Given the description of an element on the screen output the (x, y) to click on. 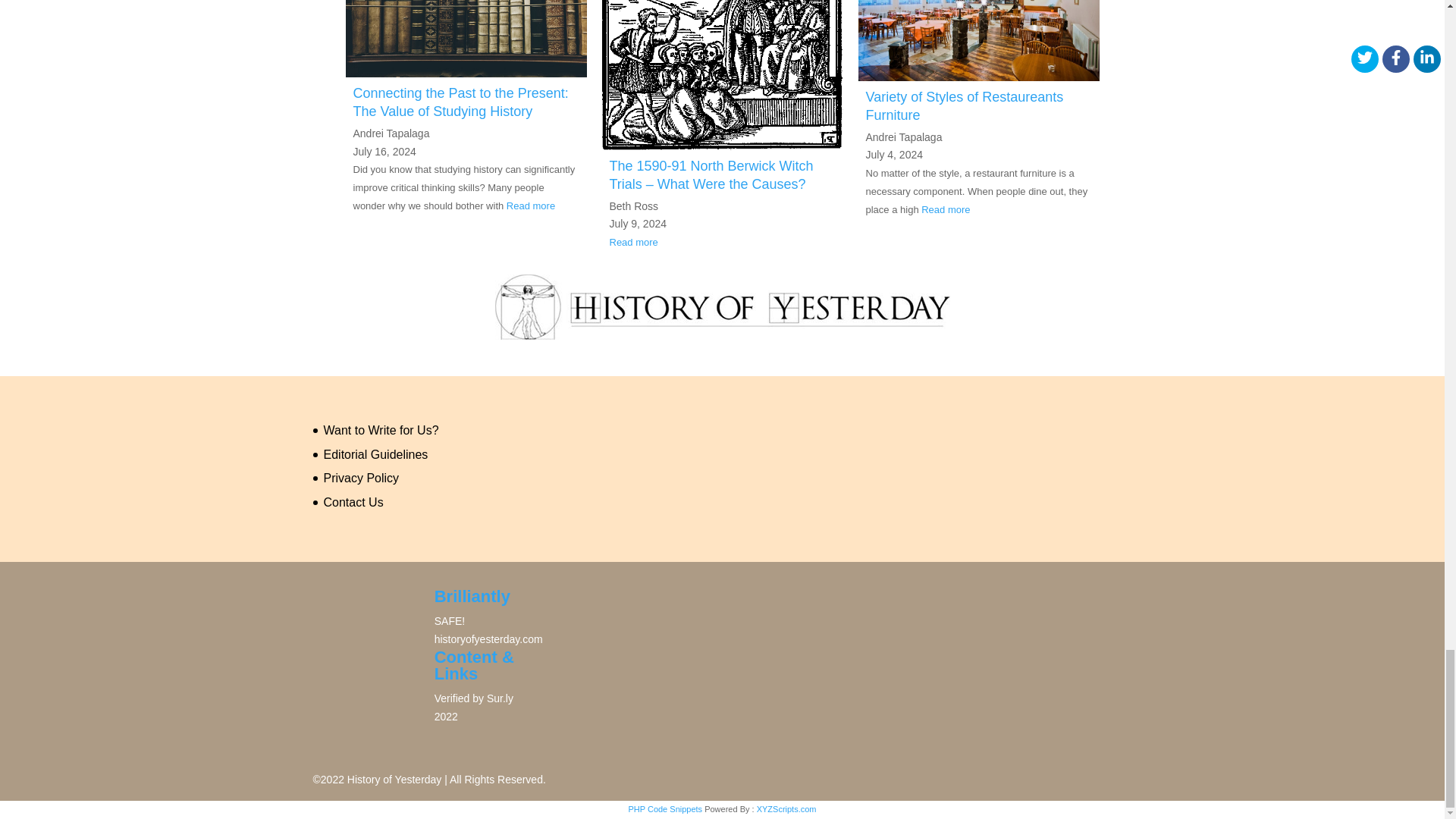
Insert PHP Snippet Wordpress Plugin (664, 809)
